Given the description of an element on the screen output the (x, y) to click on. 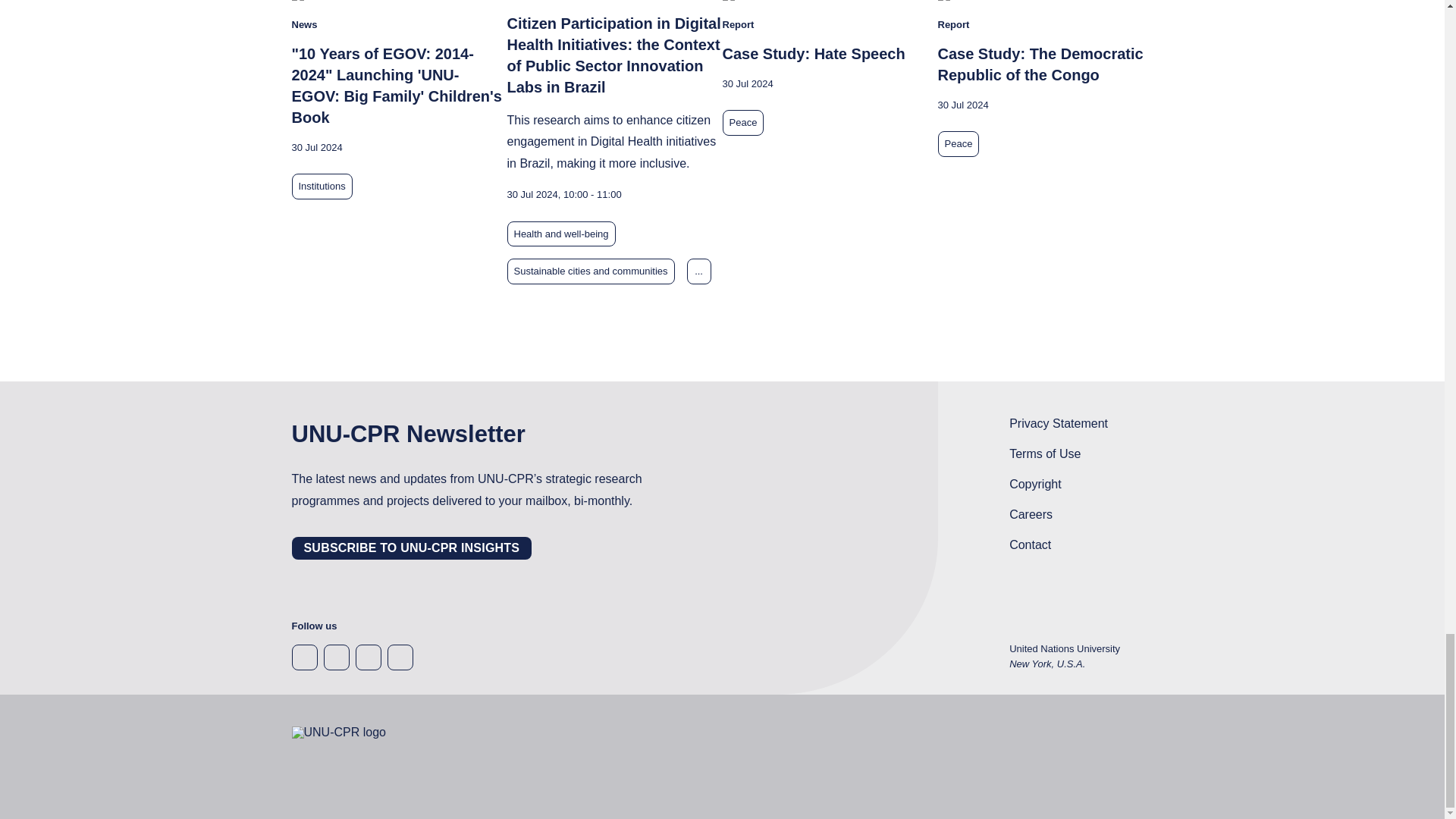
linkedin (367, 657)
twitter (336, 657)
youtube (399, 657)
facebook (304, 657)
